Given the description of an element on the screen output the (x, y) to click on. 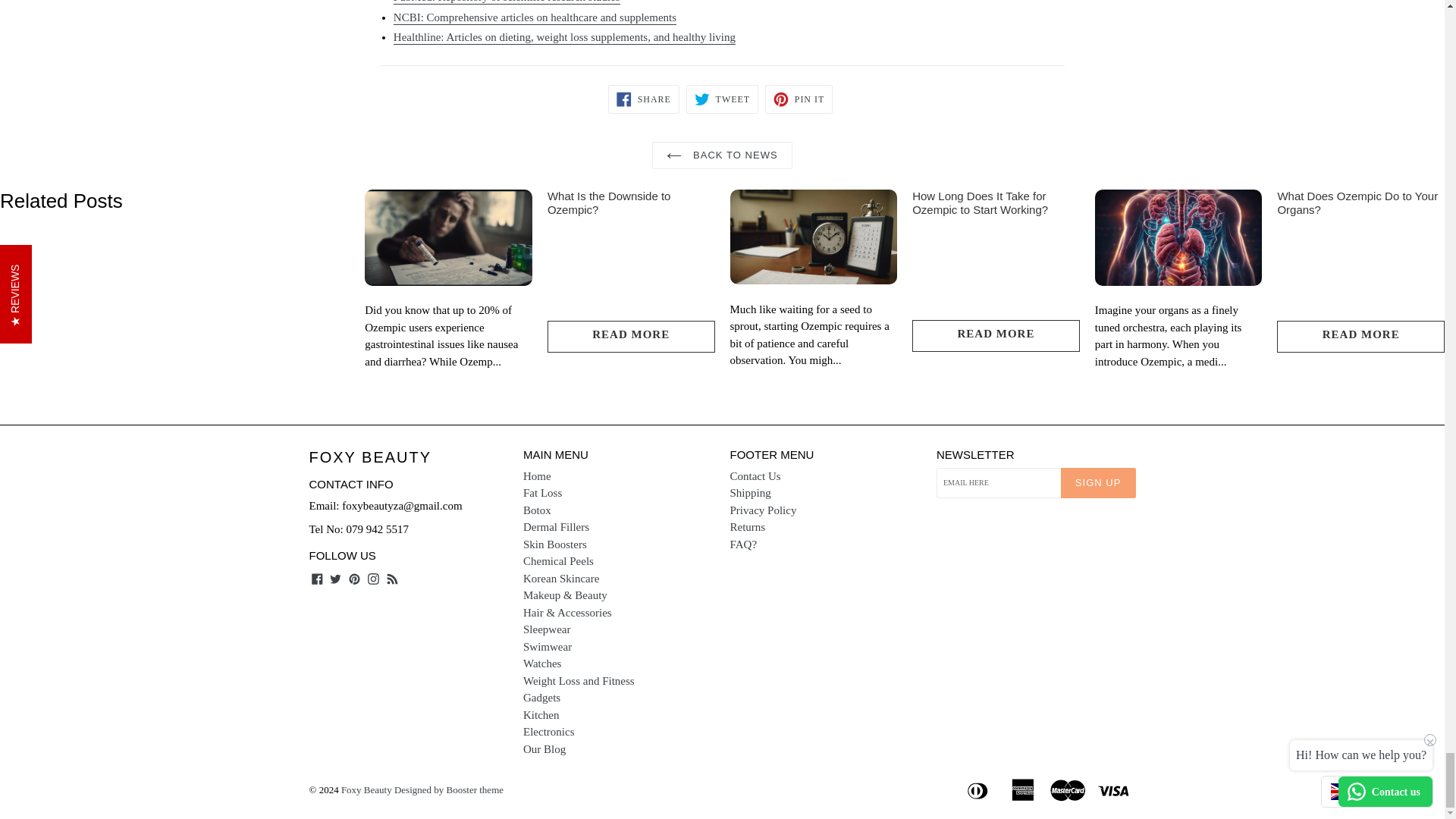
Foxy Beauty on Twitter (335, 577)
diners club (979, 788)
Foxy Beauty on Facebook (316, 577)
visa (1114, 788)
Share on Facebook (643, 99)
Foxy Beauty on Instagram (373, 577)
american express (1024, 788)
Foxy Beauty on Pinterest (354, 577)
Tweet on Twitter (721, 99)
Pin on Pinterest (798, 99)
